Given the description of an element on the screen output the (x, y) to click on. 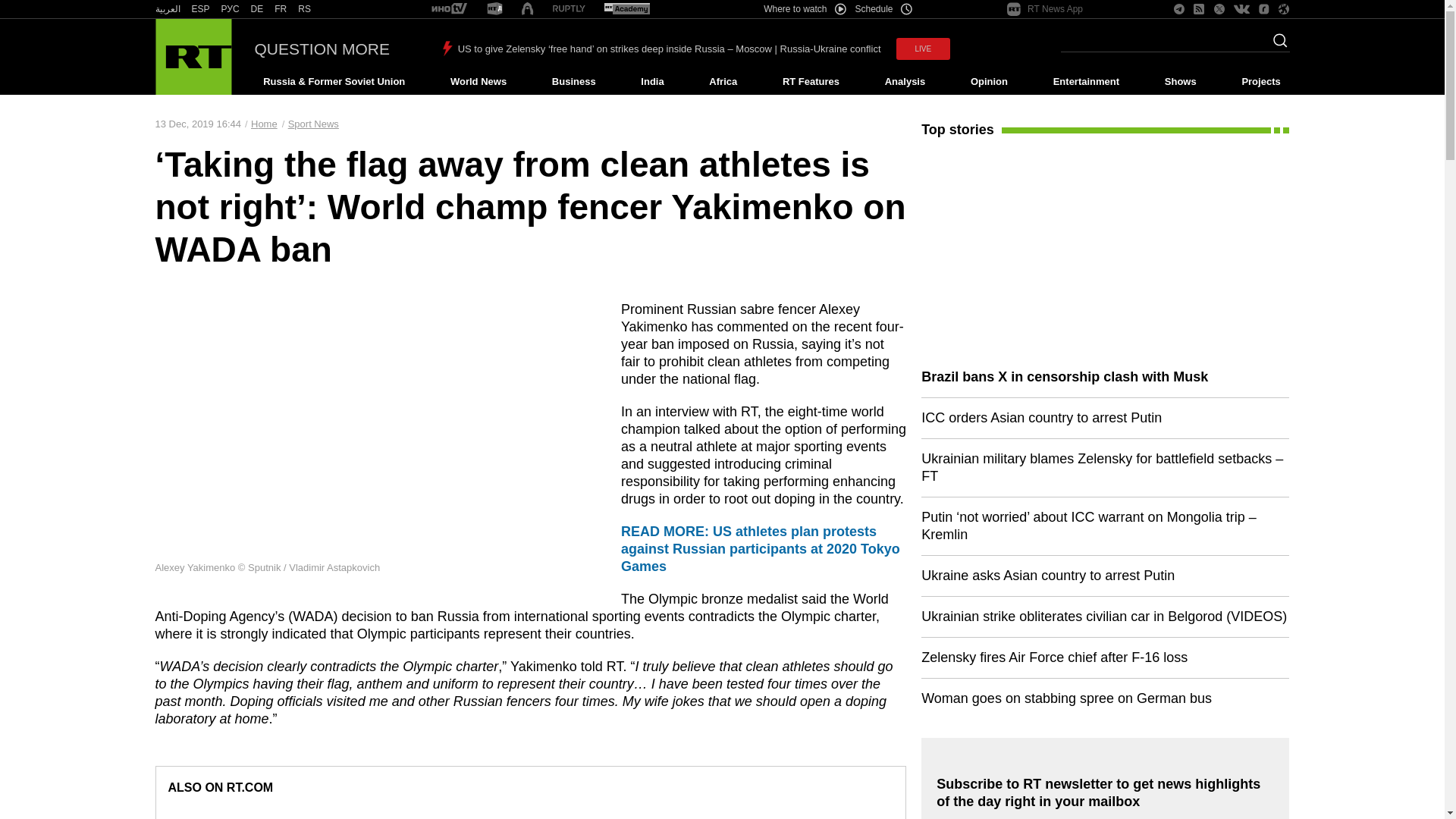
RT  (199, 9)
RT  (626, 9)
Projects (1261, 81)
RT  (494, 9)
QUESTION MORE (322, 48)
RT  (166, 9)
Where to watch (803, 9)
RT  (304, 9)
Business (573, 81)
RT Features (810, 81)
